Given the description of an element on the screen output the (x, y) to click on. 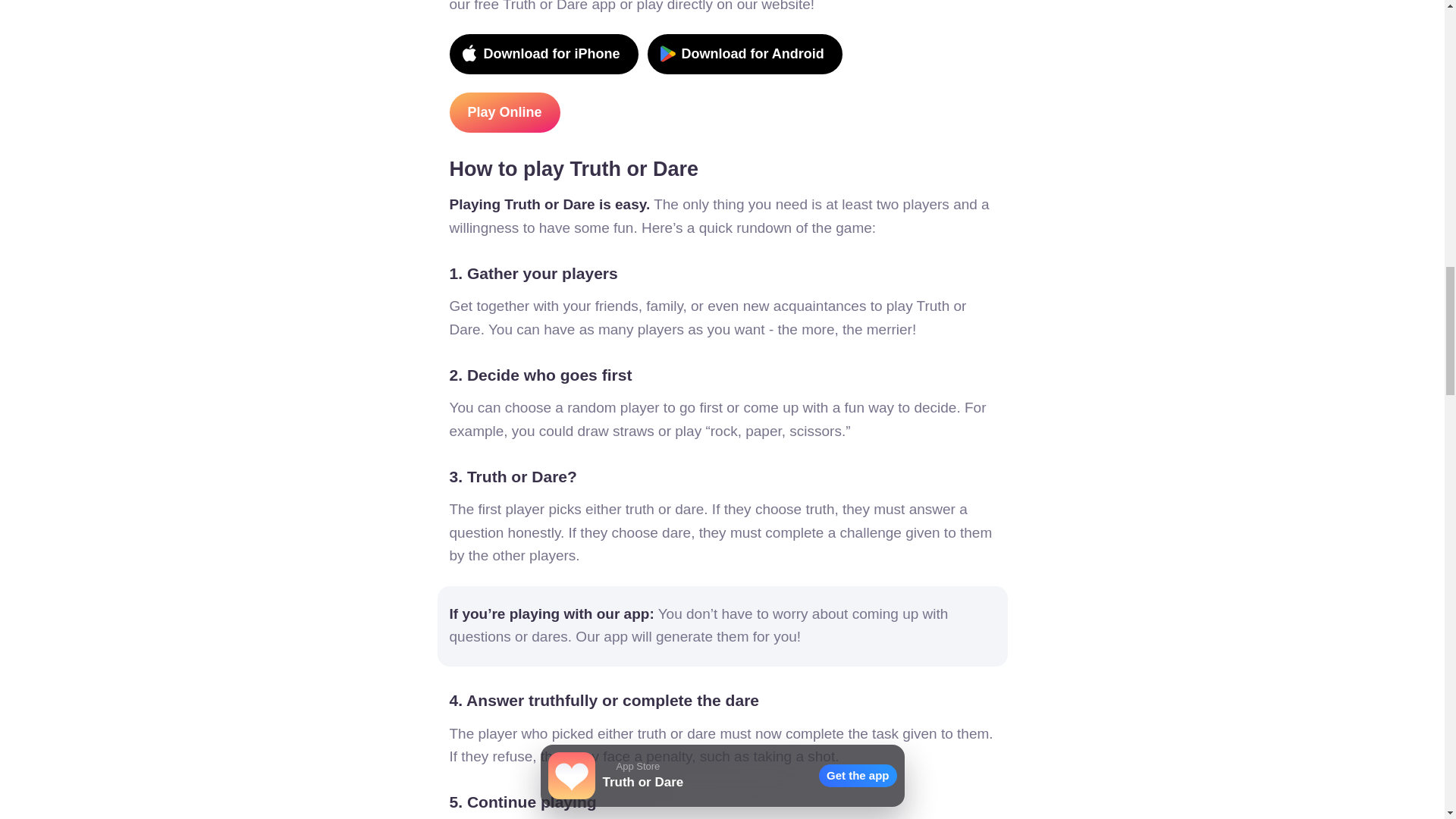
Play Online (503, 112)
Download for iPhone (542, 54)
Download for Android (745, 54)
